Given the description of an element on the screen output the (x, y) to click on. 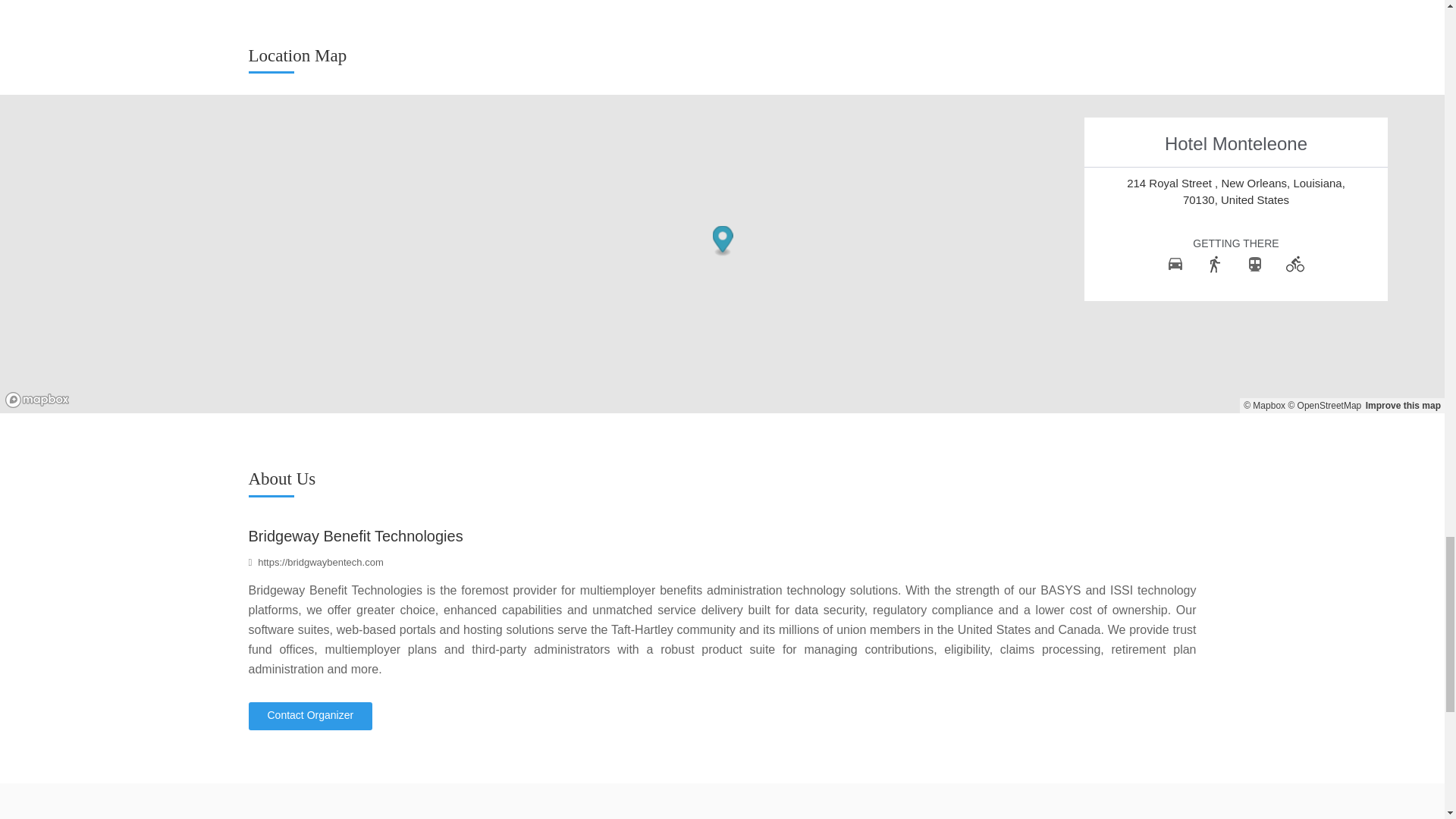
Mapbox (1264, 405)
Improve this map (1403, 405)
OpenStreetMap (1324, 405)
